Given the description of an element on the screen output the (x, y) to click on. 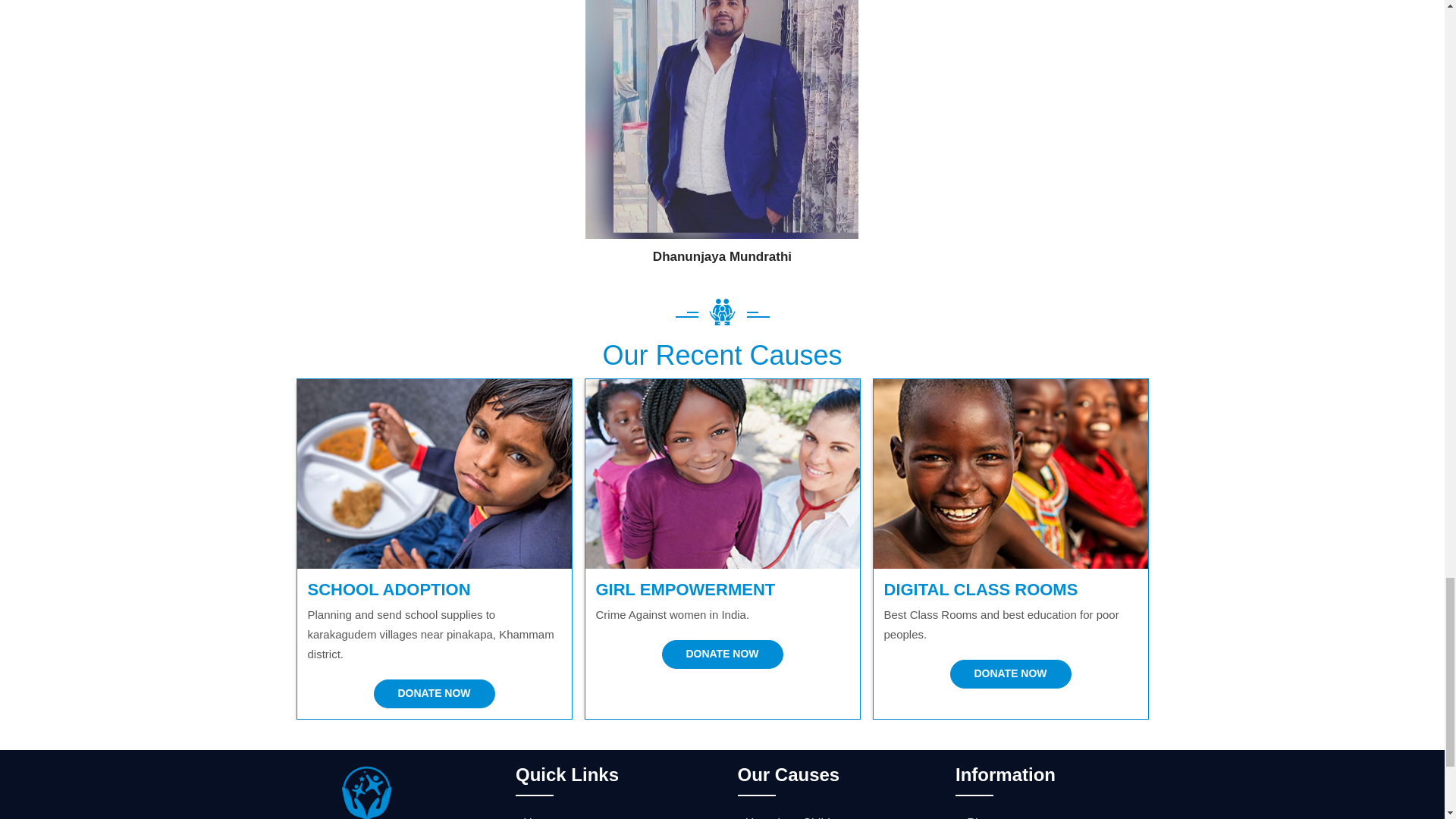
SCHOOL ADOPTION (388, 589)
Dhanunjaya Mundrathi (722, 257)
GIRL EMPOWERMENT (685, 589)
DONATE NOW (722, 654)
Home (535, 816)
DONATE NOW (1009, 674)
DIGITAL CLASS ROOMS (980, 589)
DONATE NOW (433, 693)
